Given the description of an element on the screen output the (x, y) to click on. 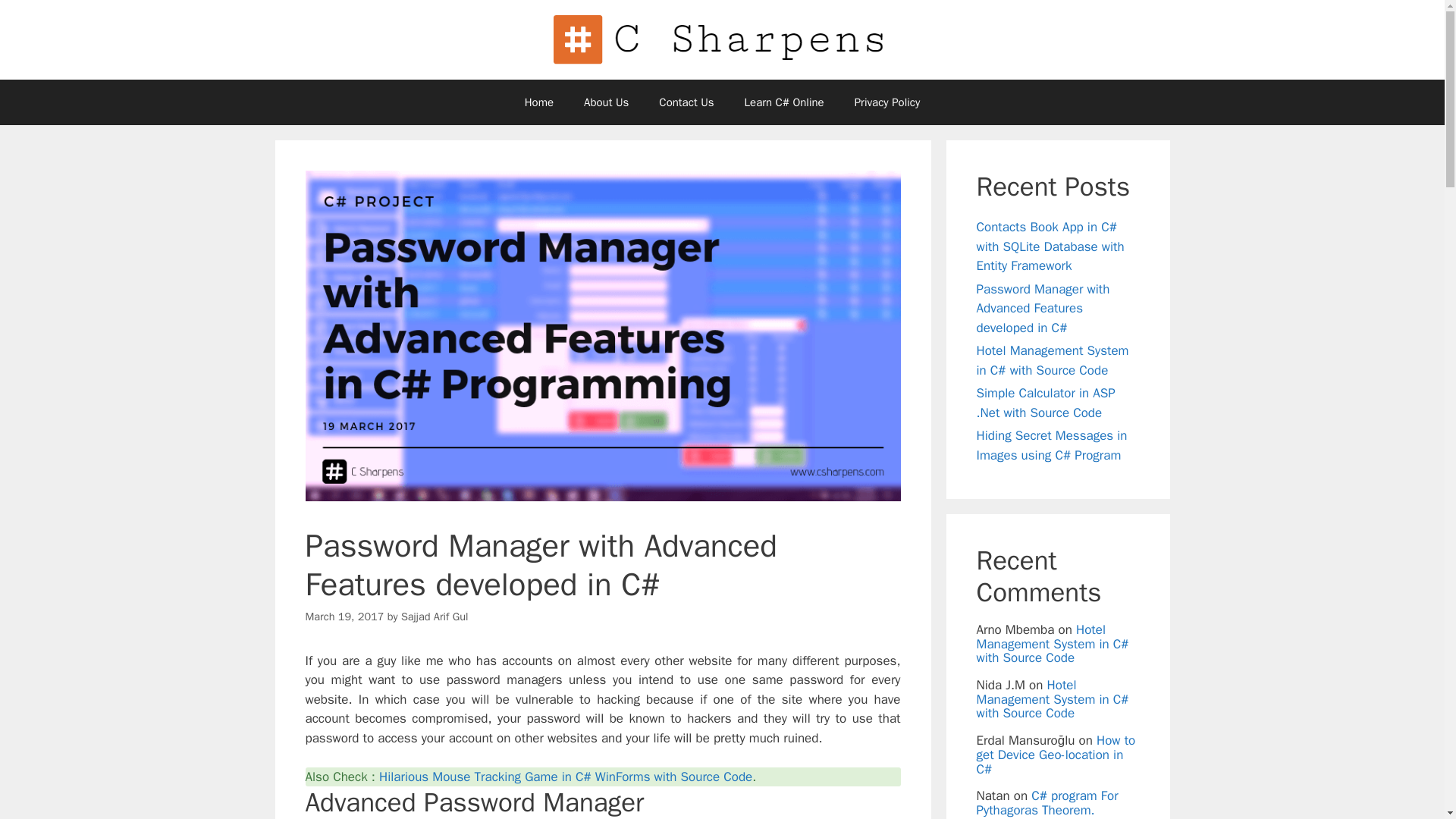
C Sharpens (722, 38)
Home (539, 102)
View all posts by Sajjad Arif Gul (434, 616)
C Sharpens (722, 39)
Sajjad Arif Gul (434, 616)
About Us (606, 102)
Privacy Policy (888, 102)
Contact Us (686, 102)
